Given the description of an element on the screen output the (x, y) to click on. 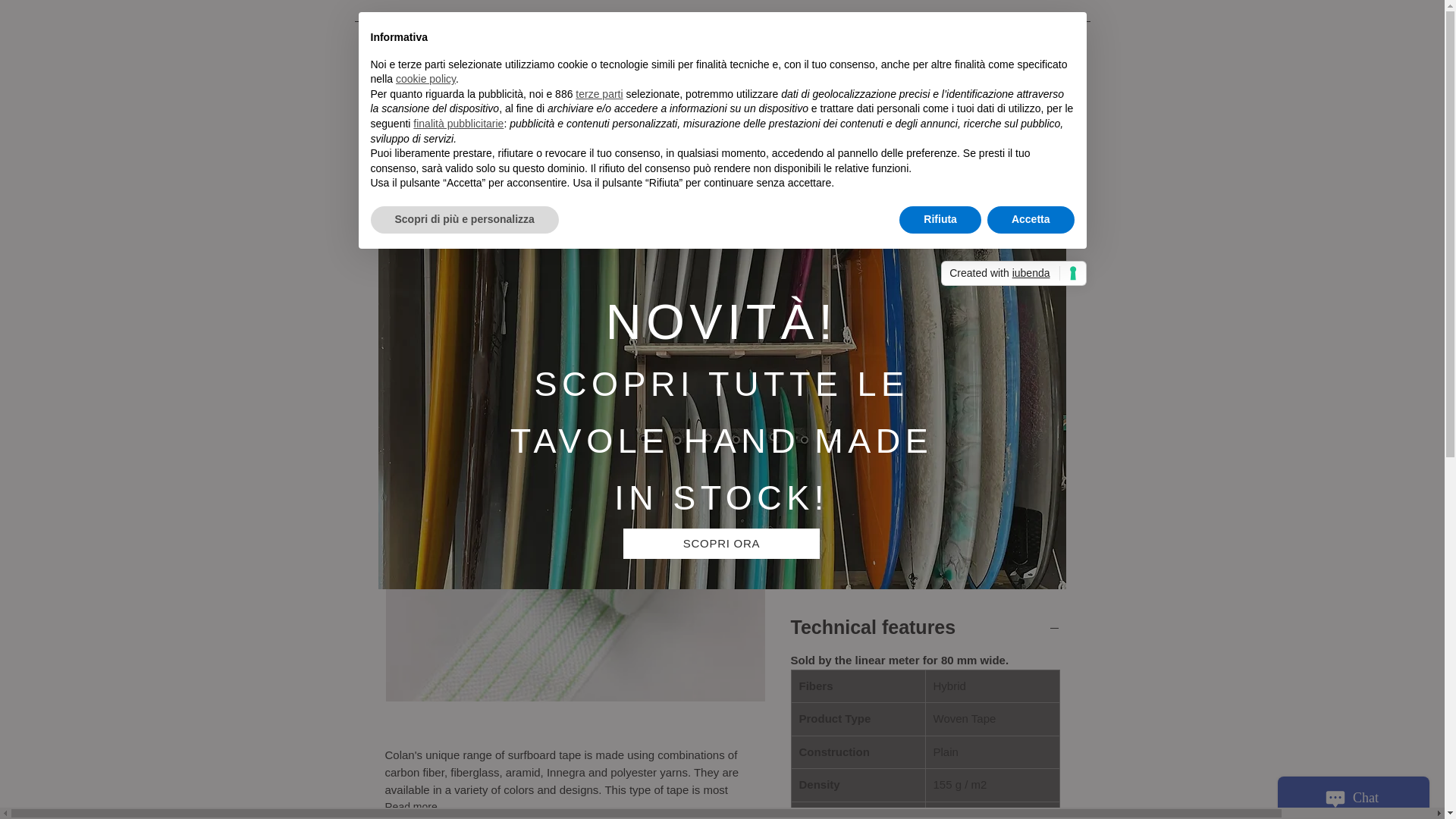
Nuova pagina (923, 39)
Progetti (710, 39)
Nuova pagina (449, 39)
shpe.png (436, 96)
Generale (843, 39)
Nuova pagina (632, 39)
0 (1020, 86)
HOME (376, 39)
1 (820, 470)
Generale (1002, 39)
Nuova pagina (542, 39)
Log In (956, 90)
Generale (775, 39)
